Given the description of an element on the screen output the (x, y) to click on. 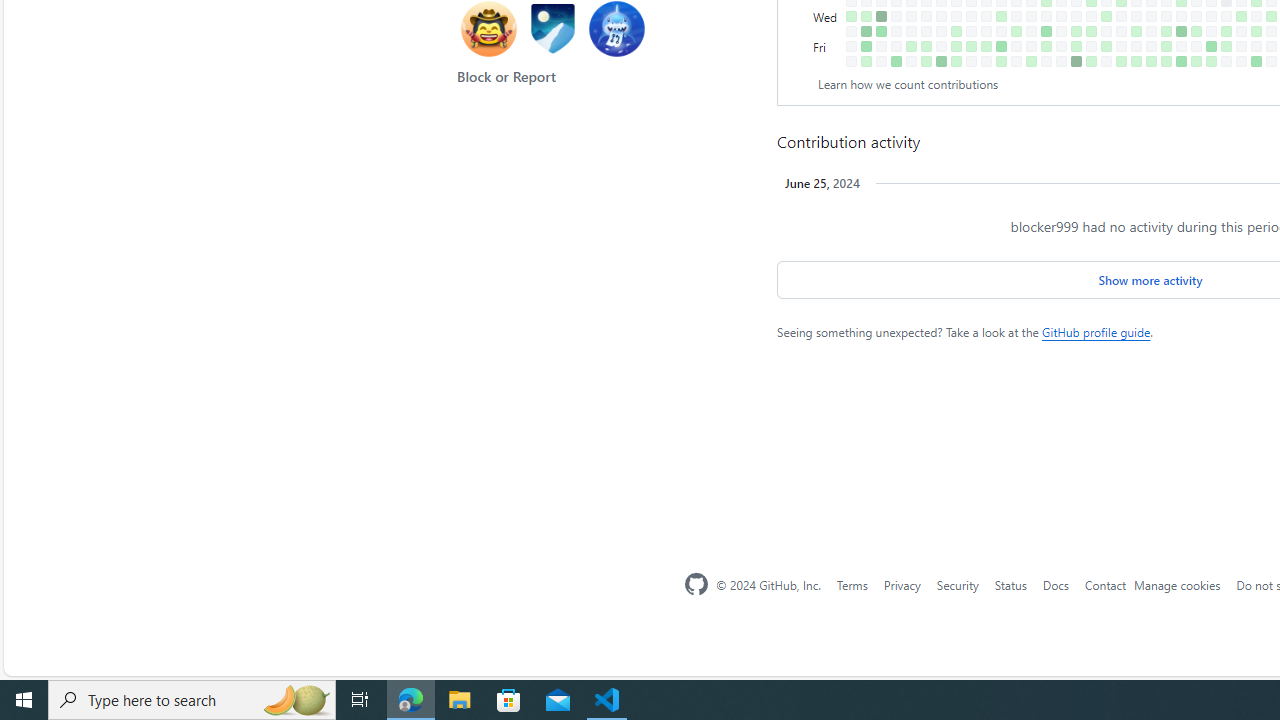
No contributions on February 15th. (941, 30)
1 contribution on April 25th. (1090, 30)
Docs (1054, 584)
No contributions on May 10th. (1121, 46)
No contributions on June 12th. (1195, 16)
2 contributions on June 13th. (1195, 30)
Learn how we count contributions (907, 84)
2 contributions on June 28th. (1226, 46)
No contributions on May 9th. (1121, 30)
Terms (851, 584)
No contributions on March 27th. (1031, 16)
No contributions on March 29th. (1031, 46)
No contributions on April 6th. (1046, 61)
Status (1010, 584)
No contributions on June 19th. (1211, 16)
